Given the description of an element on the screen output the (x, y) to click on. 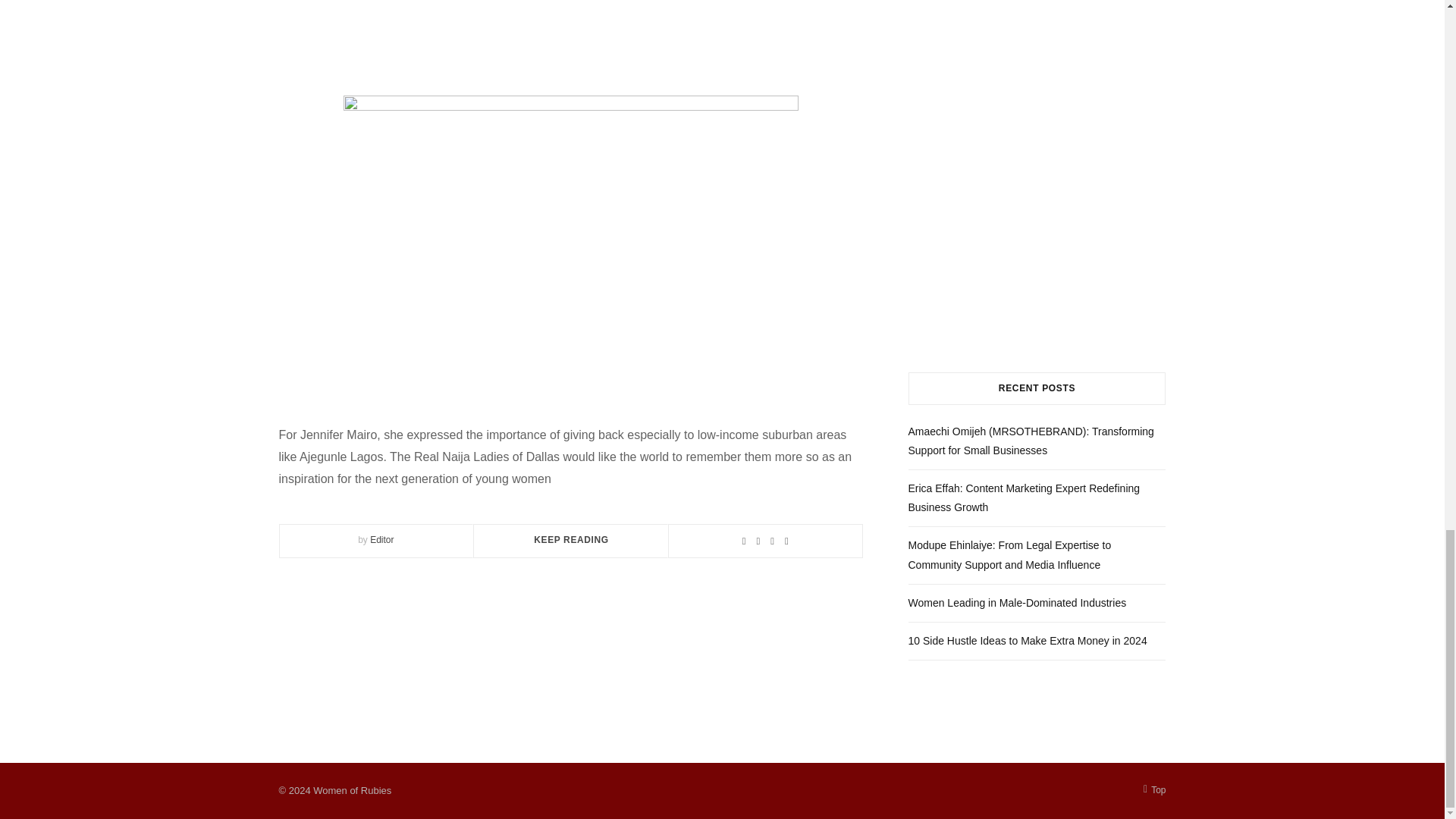
Posts by Editor (381, 539)
KEEP READING (571, 539)
10 Side Hustle Ideas to Make Extra Money in 2024 (1027, 640)
Women Leading in Male-Dominated Industries (1017, 603)
Editor (381, 539)
